Given the description of an element on the screen output the (x, y) to click on. 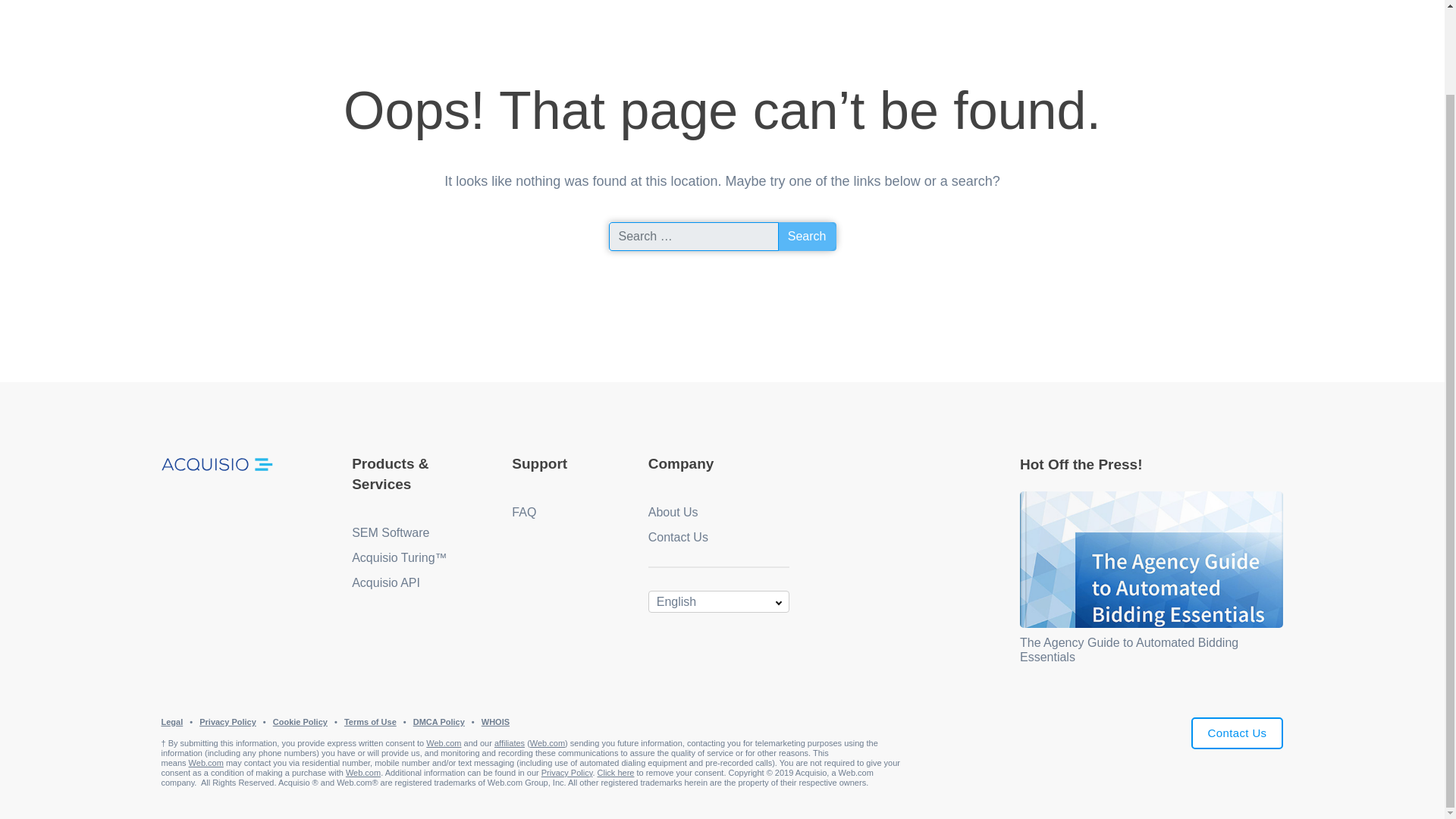
DMCA Policy (438, 721)
The Agency Guide to Automated Bidding Essentials (1129, 648)
SEM Software (390, 532)
Contact Us (1237, 733)
Search (806, 235)
affiliates (509, 742)
Company (680, 463)
Cookie Policy (300, 721)
FAQ (523, 512)
Search (806, 235)
